Given the description of an element on the screen output the (x, y) to click on. 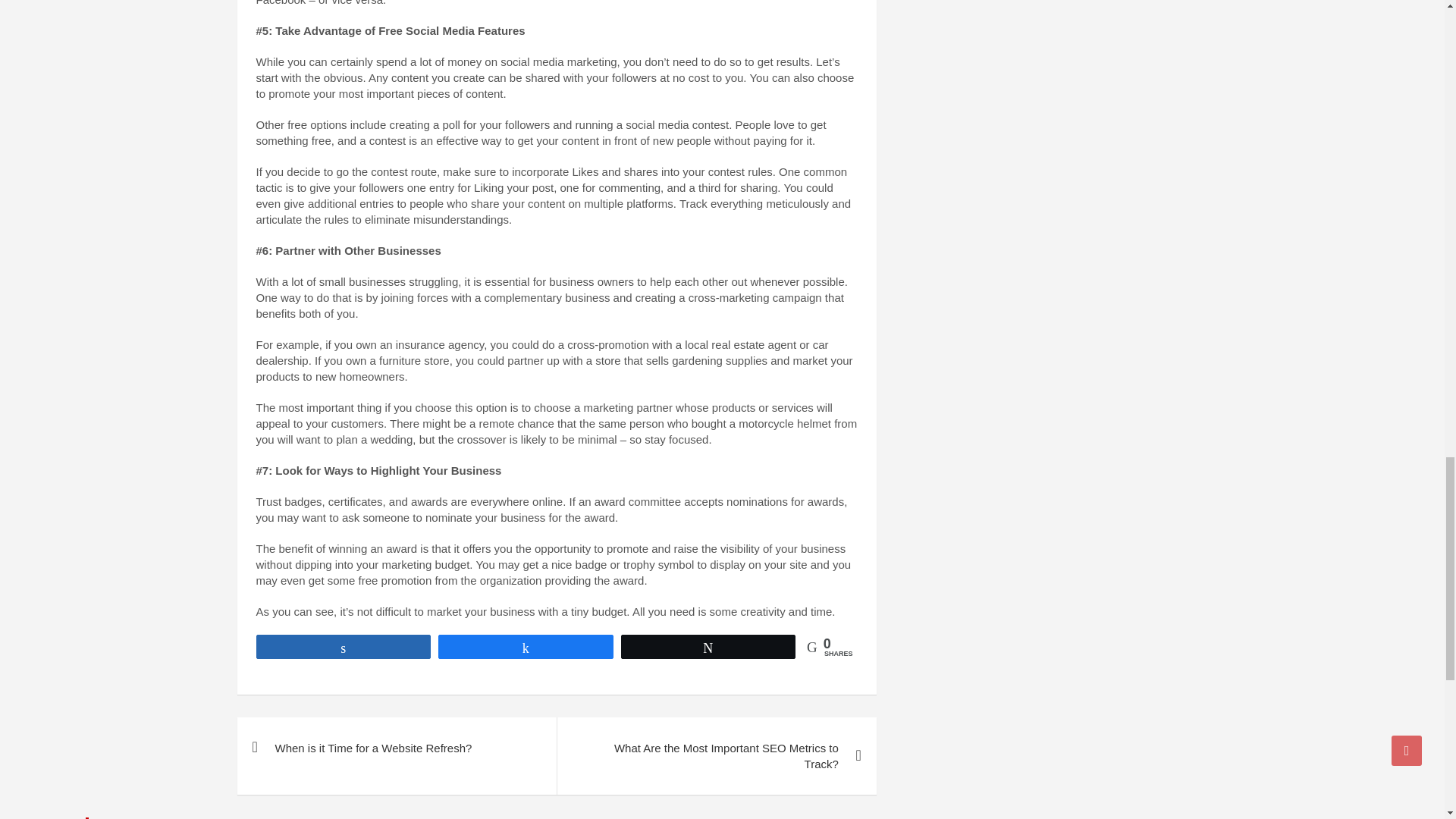
What Are the Most Important SEO Metrics to Track? (716, 755)
When is it Time for a Website Refresh? (395, 747)
